Given the description of an element on the screen output the (x, y) to click on. 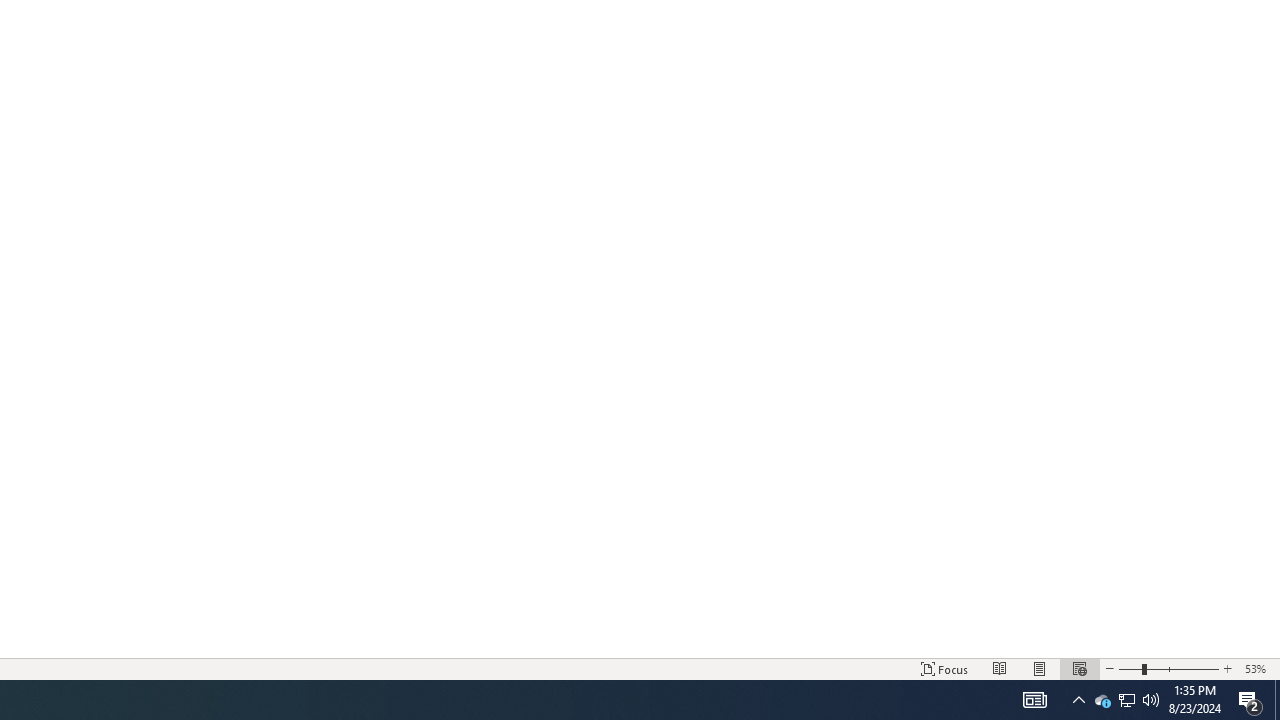
Zoom 53% (1258, 668)
